Given the description of an element on the screen output the (x, y) to click on. 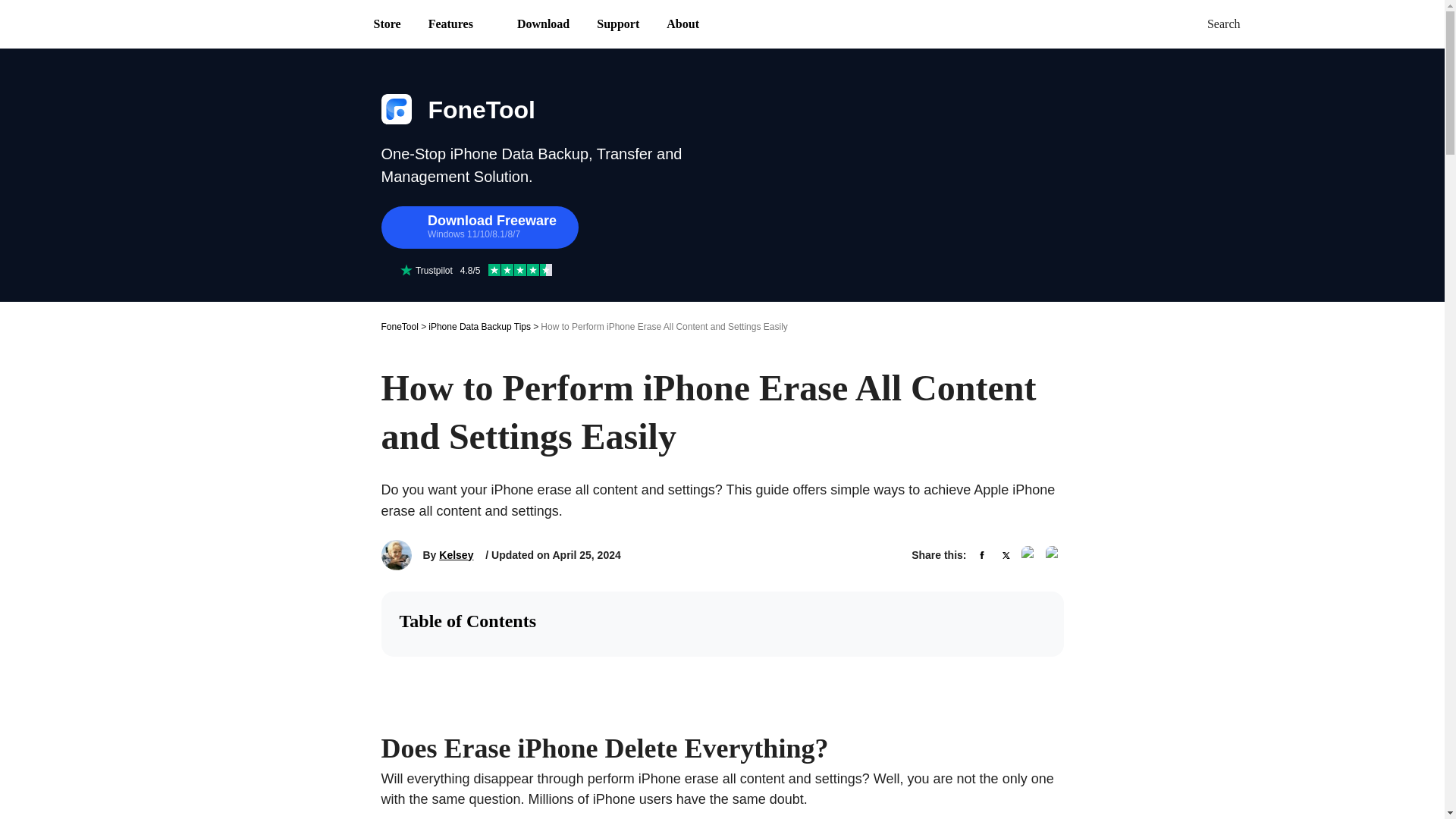
FoneTool (398, 326)
Download (542, 24)
iPhone Data Backup Tips (479, 326)
Kelsey (456, 555)
